Given the description of an element on the screen output the (x, y) to click on. 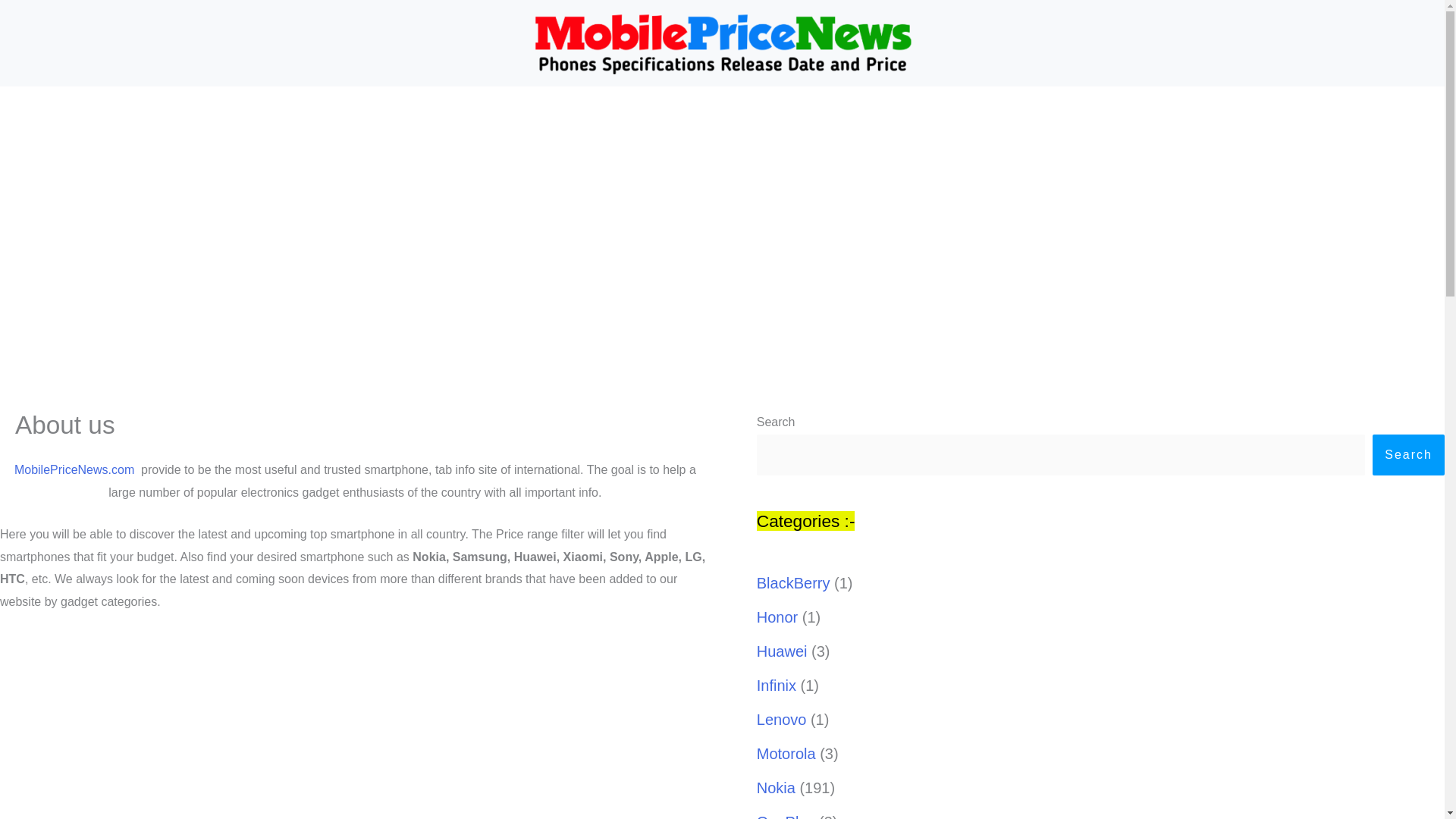
OnePlus (786, 816)
Huawei (782, 651)
MobilePriceNews.com (73, 469)
BlackBerry (793, 582)
Honor (777, 617)
Sony (614, 336)
Xiaomi (1034, 336)
Lenovo (781, 719)
Motorola (786, 753)
Infinix (776, 685)
Nokia (403, 336)
Samsung (510, 336)
BlackBerry (917, 336)
Motorola (791, 336)
